Given the description of an element on the screen output the (x, y) to click on. 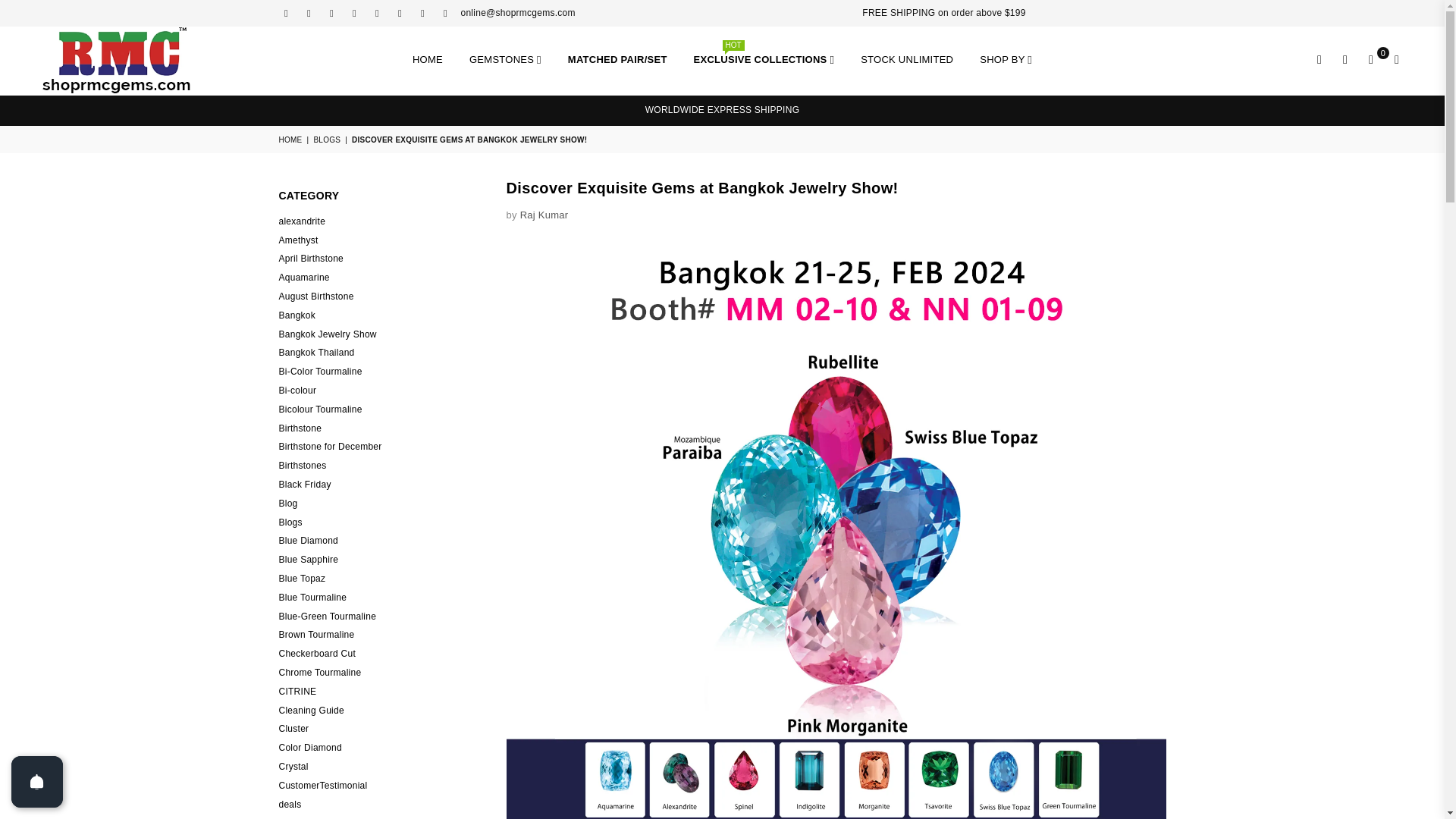
shoprmcgems on Pinterest (331, 12)
Back to the home page (291, 139)
shoprmcgems on Facebook (286, 12)
Instagram (353, 12)
Cart (1371, 60)
SHOPRMCGEMS (117, 60)
Logout (1345, 60)
shoprmcgems on Tumblr (376, 12)
shoprmcgems on Whatsapp (445, 12)
YouTube (399, 12)
